Given the description of an element on the screen output the (x, y) to click on. 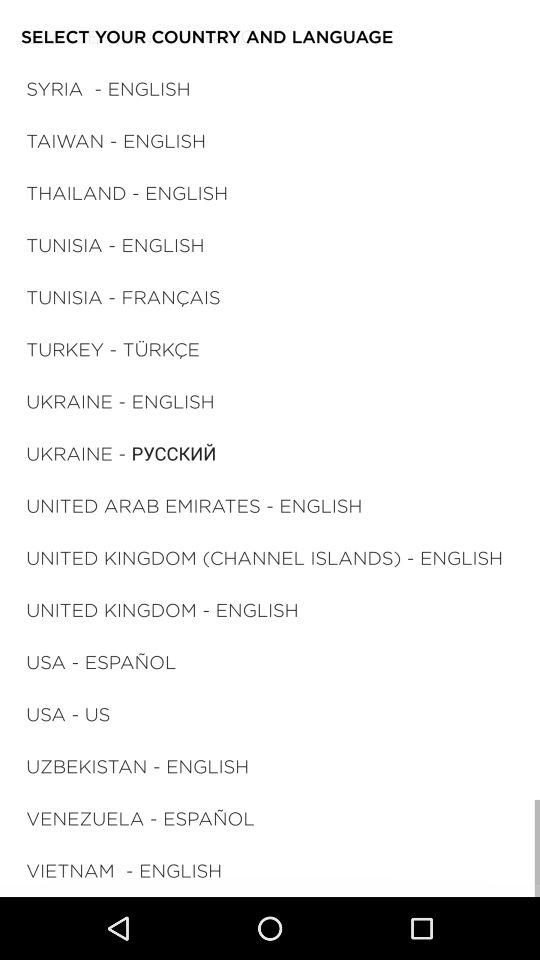
select the item above vietnam  - english icon (140, 817)
